Given the description of an element on the screen output the (x, y) to click on. 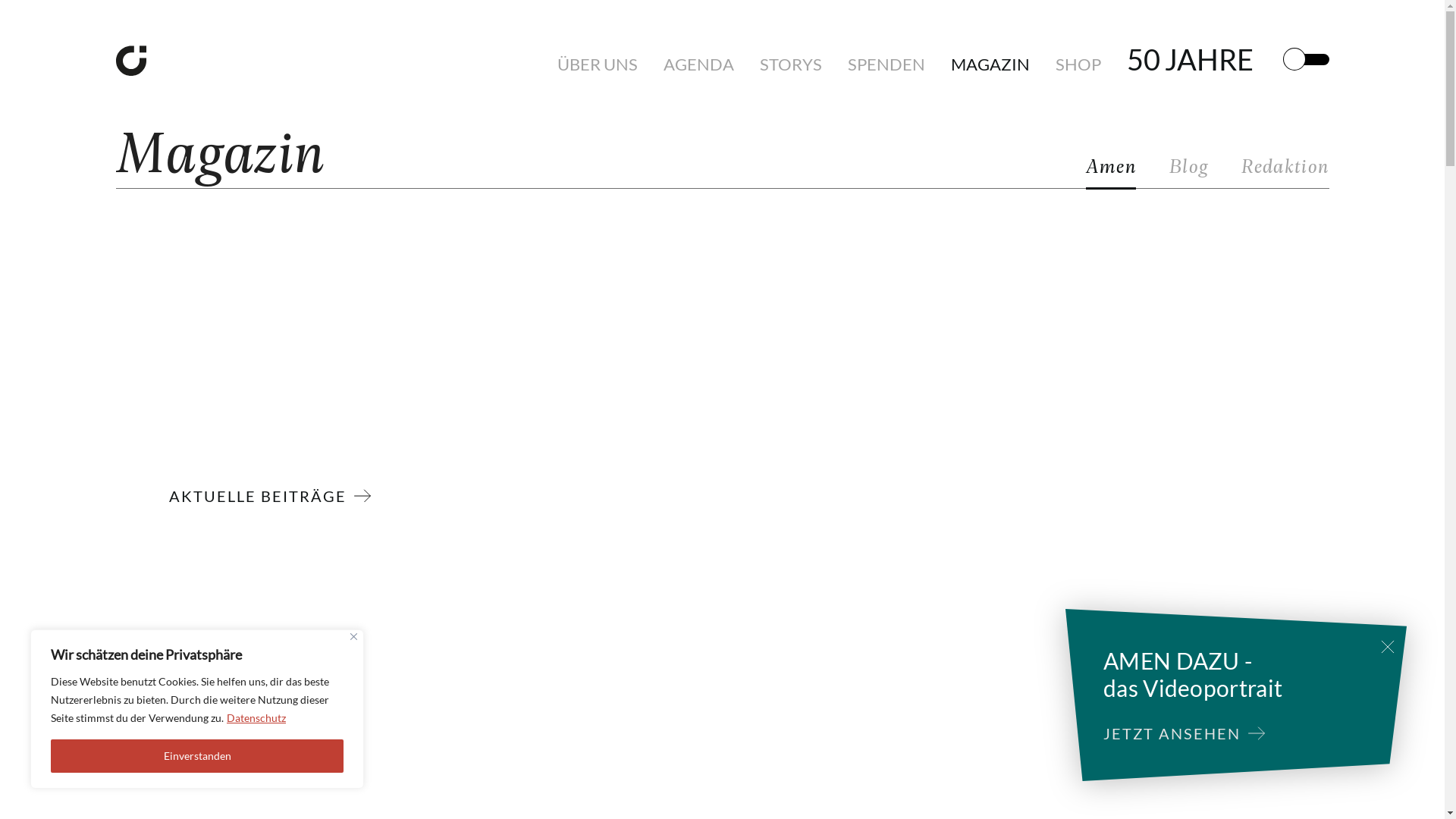
MAGAZIN Element type: text (989, 63)
Amen Element type: text (1110, 171)
STORYS Element type: text (790, 63)
JETZT ANSEHEN Element type: text (1175, 733)
Einverstanden Element type: text (196, 755)
Redaktion Element type: text (1284, 171)
AGENDA Element type: text (697, 63)
Datenschutz Element type: text (255, 717)
Magazin
Amen Blog Redaktion Element type: text (722, 144)
SPENDEN Element type: text (886, 63)
49
50
JAHRE Element type: text (1189, 59)
SHOP Element type: text (1078, 63)
Blog Element type: text (1188, 171)
